Given the description of an element on the screen output the (x, y) to click on. 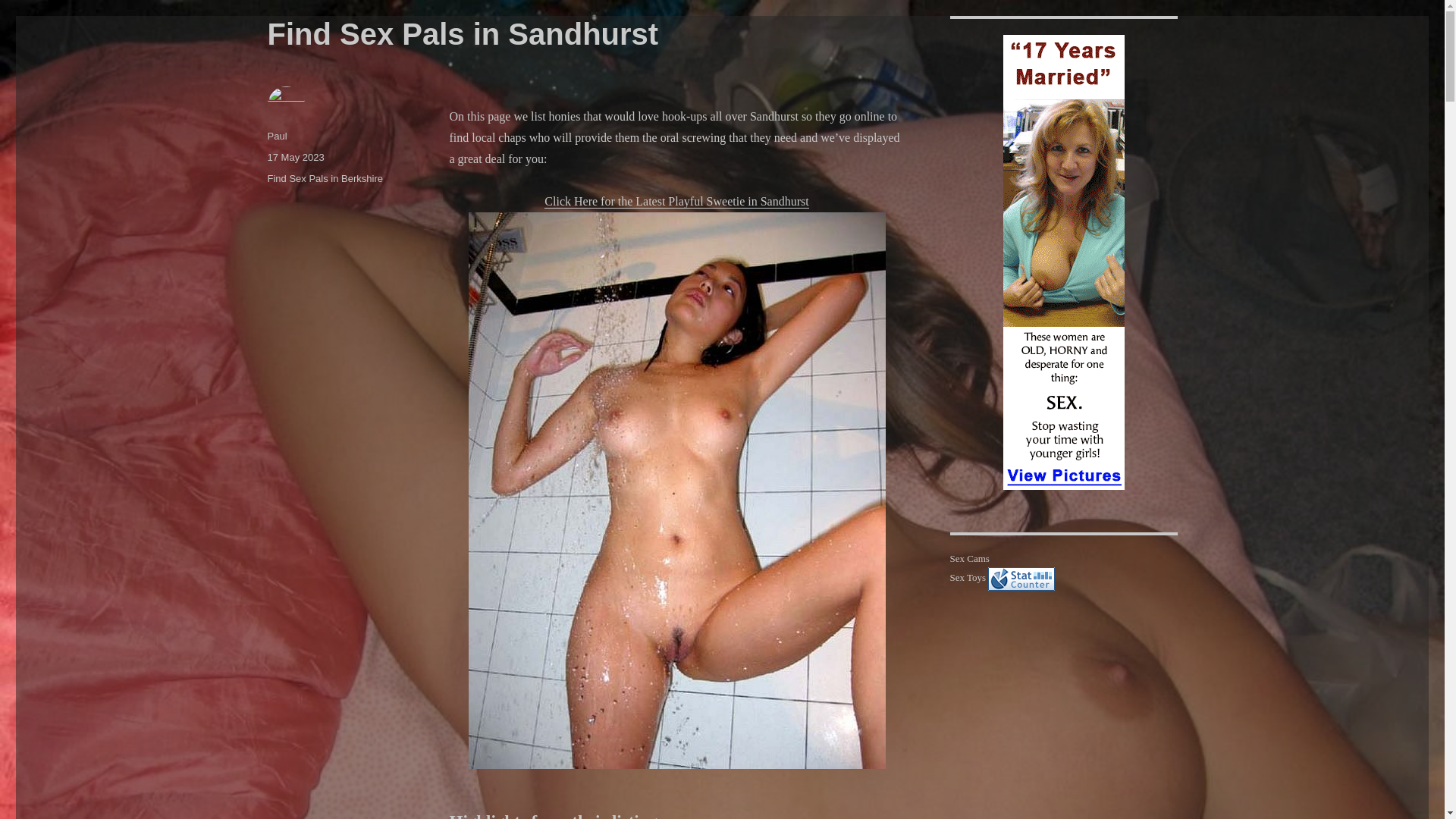
17 May 2023 (294, 156)
Sex Toys (967, 577)
Sex Cams (968, 558)
Paul (276, 135)
Click Here for the Latest Playful Sweetie in Sandhurst (676, 201)
Find Sex Pals in Berkshire (323, 178)
